Given the description of an element on the screen output the (x, y) to click on. 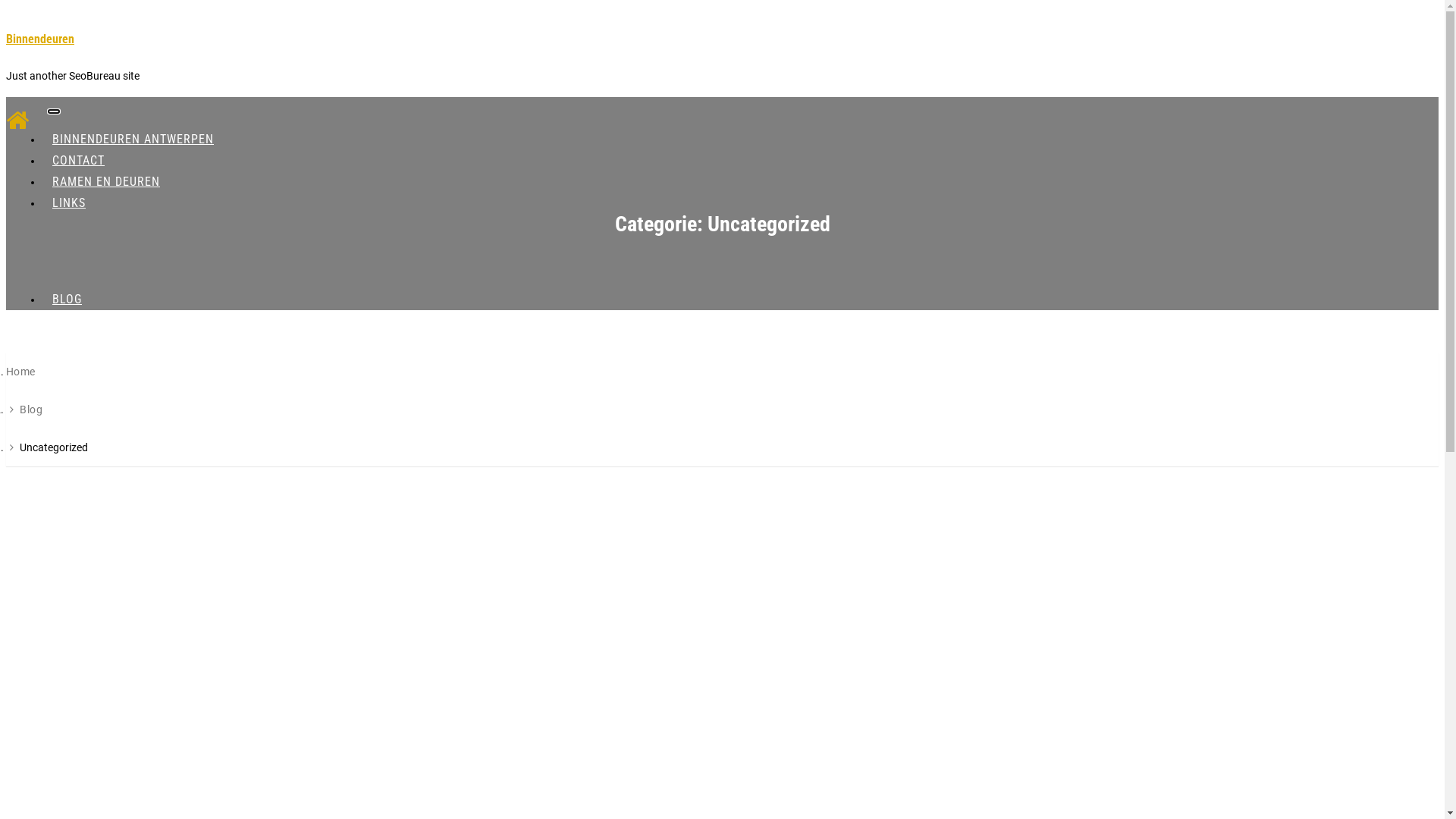
Home Element type: text (20, 371)
Toggle navigatie Element type: text (53, 111)
CONTACT Element type: text (78, 160)
Binnendeuren Element type: text (40, 38)
LINKS Element type: text (68, 202)
BLOG Element type: text (66, 298)
search_icon Element type: hover (899, 355)
Blog Element type: text (30, 409)
RAMEN EN DEUREN Element type: text (105, 181)
Ga naar de inhoud Element type: text (5, 5)
BINNENDEUREN ANTWERPEN Element type: text (132, 138)
